Given the description of an element on the screen output the (x, y) to click on. 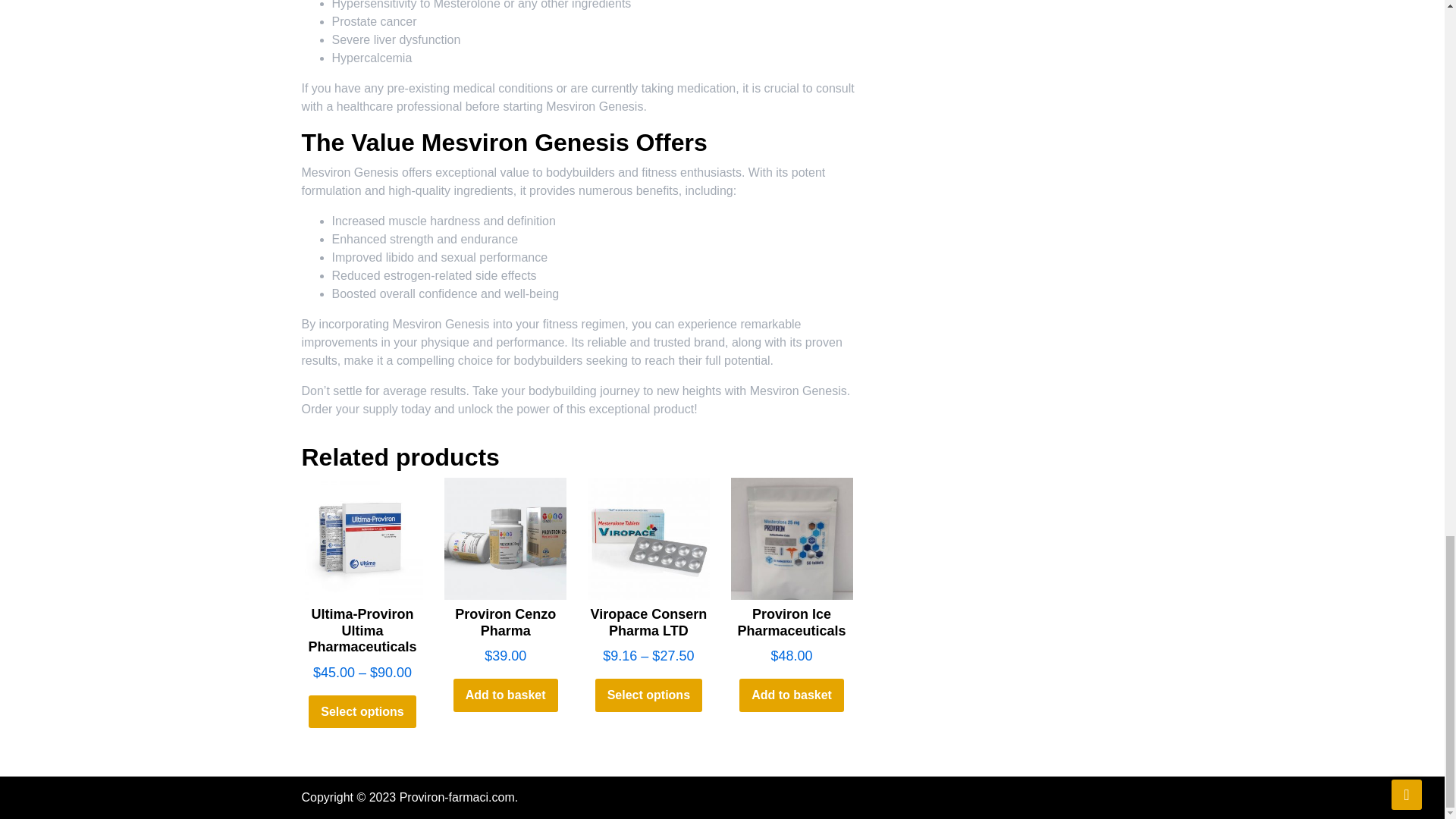
Select options (361, 711)
Add to basket (504, 694)
Select options (648, 694)
Add to basket (791, 694)
